Given the description of an element on the screen output the (x, y) to click on. 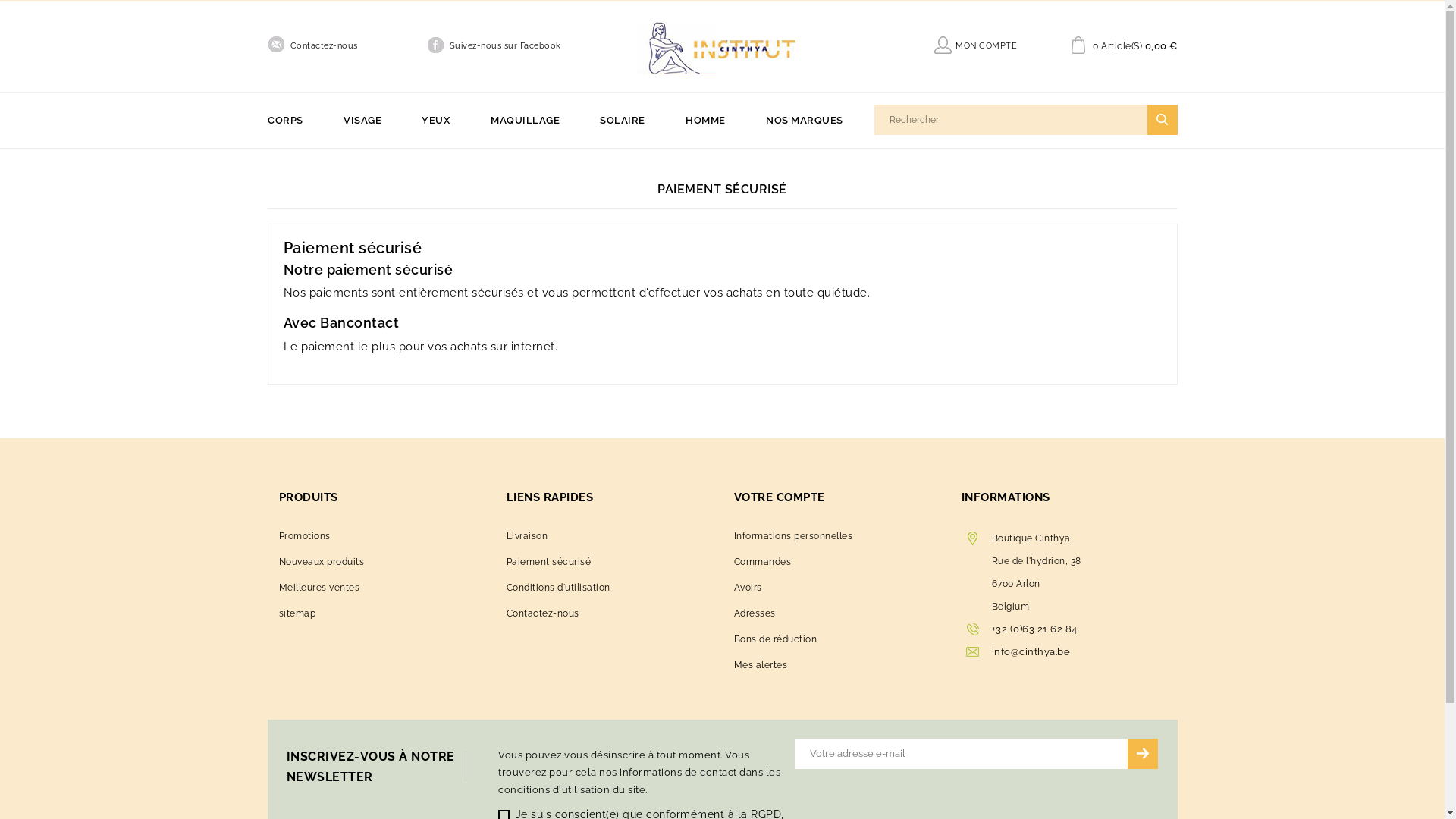
Livraison Element type: text (527, 535)
Promotions Element type: text (304, 535)
Nouveaux produits Element type: text (321, 561)
CORPS Element type: text (293, 119)
Conditions d'utilisation Element type: text (558, 587)
Visage Element type: text (655, 159)
Alessandro Element type: text (821, 159)
YEUX Element type: text (435, 119)
Corps Element type: text (362, 158)
Informations personnelles Element type: text (793, 535)
MAQUILLAGE Element type: text (524, 119)
Adresses Element type: text (754, 613)
VISAGE Element type: text (362, 119)
Avoirs Element type: text (748, 587)
VOTRE COMPTE Element type: text (779, 497)
Visage Element type: text (420, 158)
Contactez-nous Element type: text (542, 613)
Suivez-nous sur Facebook Element type: text (504, 45)
NOS MARQUES Element type: text (804, 119)
Meilleures ventes Element type: text (319, 587)
SOLAIRE Element type: text (622, 119)
Commandes Element type: text (762, 561)
sitemap Element type: text (297, 613)
info@cinthya.be Element type: text (1030, 651)
HOMME Element type: text (705, 119)
Mes alertes Element type: text (760, 664)
Contactez-nous Element type: text (323, 45)
Teint Element type: text (546, 159)
